Given the description of an element on the screen output the (x, y) to click on. 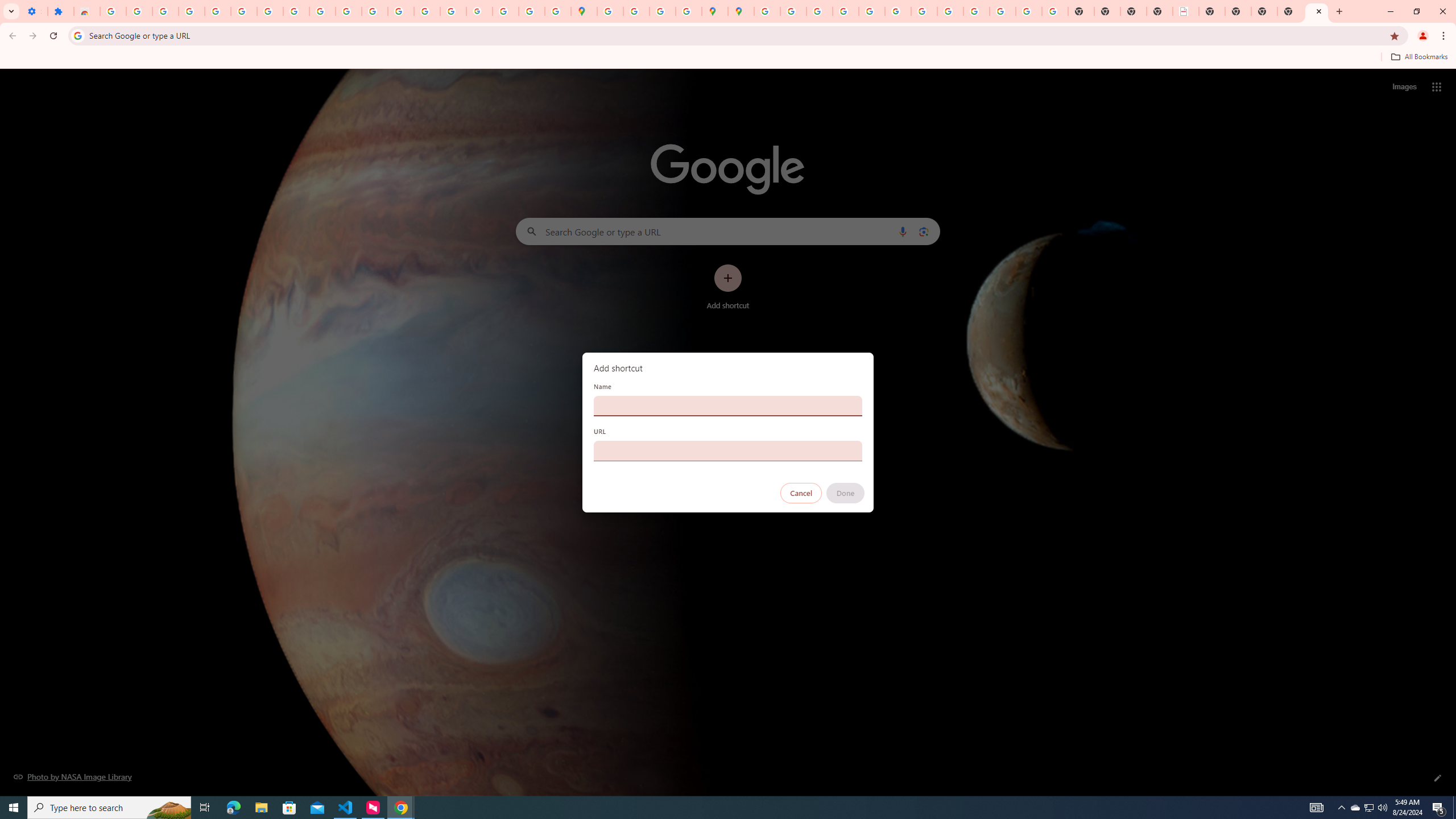
YouTube (923, 11)
YouTube (322, 11)
https://scholar.google.com/ (374, 11)
URL (727, 450)
Google Maps (584, 11)
